Given the description of an element on the screen output the (x, y) to click on. 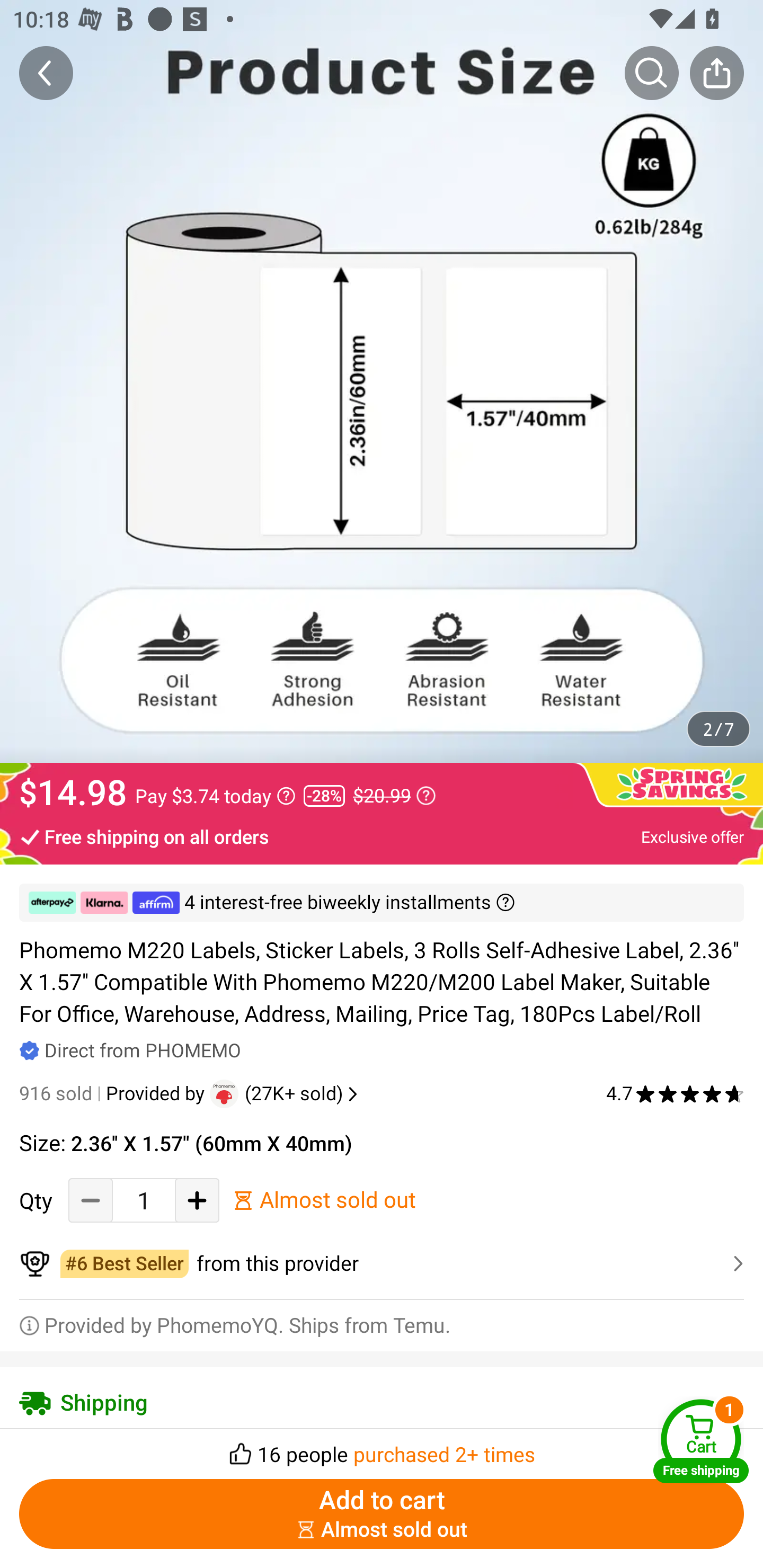
Back (46, 72)
Share (716, 72)
Pay $3.74 today   (215, 795)
Free shipping on all orders Exclusive offer (381, 836)
￼ ￼ ￼ 4 interest-free biweekly installments ￼ (381, 902)
916 sold Provided by  (114, 1094)
4.7 (674, 1094)
Decrease Quantity Button (90, 1200)
1 (143, 1200)
Add Quantity button (196, 1200)
￼￼from this provider (381, 1263)
Shipping (381, 1402)
Cart Free shipping Cart (701, 1440)
￼￼16 people purchased 2+ times (381, 1448)
Add to cart ￼￼Almost sold out (381, 1513)
